Given the description of an element on the screen output the (x, y) to click on. 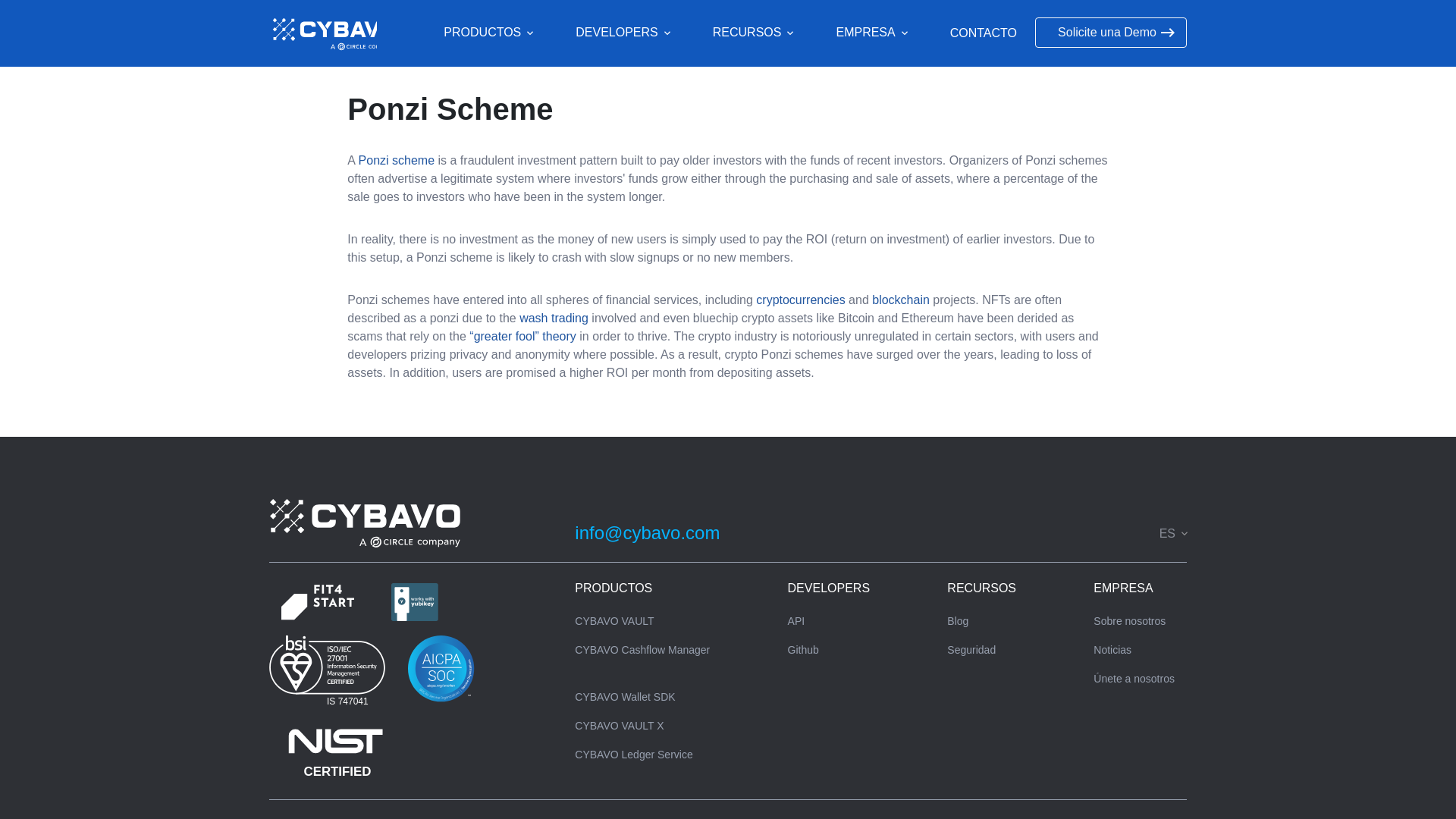
Solicite una Demo (1110, 32)
wash trading (553, 318)
Twitter (1077, 532)
CYBAVO VAULT (614, 621)
CONTACTO (983, 33)
Ponzi scheme (396, 160)
Medium (1022, 532)
Facebook (1050, 532)
RECURSOS (756, 33)
LinkedIn (1104, 532)
ES (1171, 533)
DEVELOPERS (625, 33)
cryptocurrencies (799, 299)
PRODUCTOS (491, 33)
EMPRESA (873, 33)
